Given the description of an element on the screen output the (x, y) to click on. 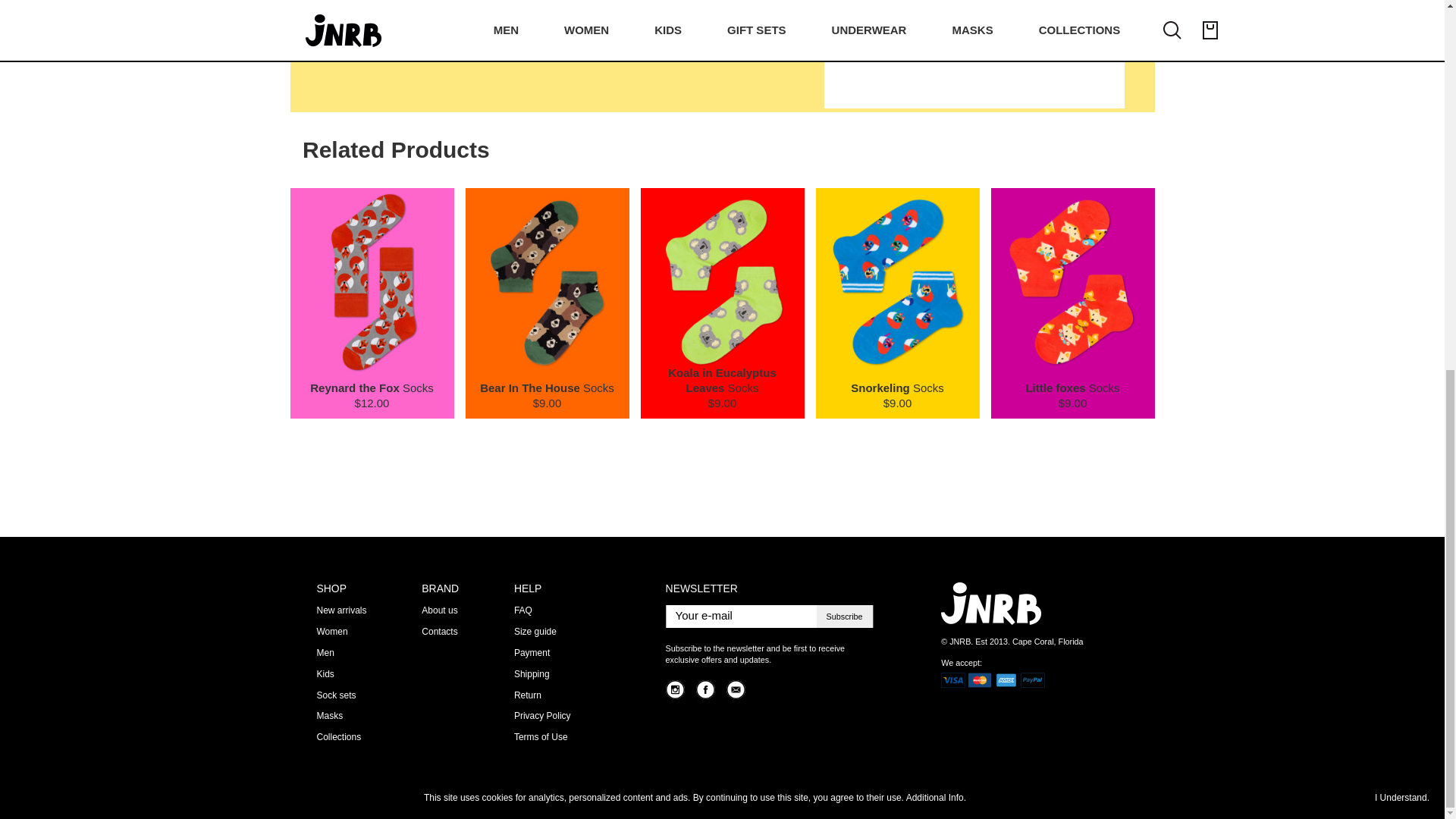
American Express (1005, 680)
Follow us on Instagram! (674, 689)
Follow us on Facebook! (704, 689)
Visa (952, 680)
Mastercard (979, 680)
Paypal (1032, 680)
Contact us via E-mail (735, 689)
